Given the description of an element on the screen output the (x, y) to click on. 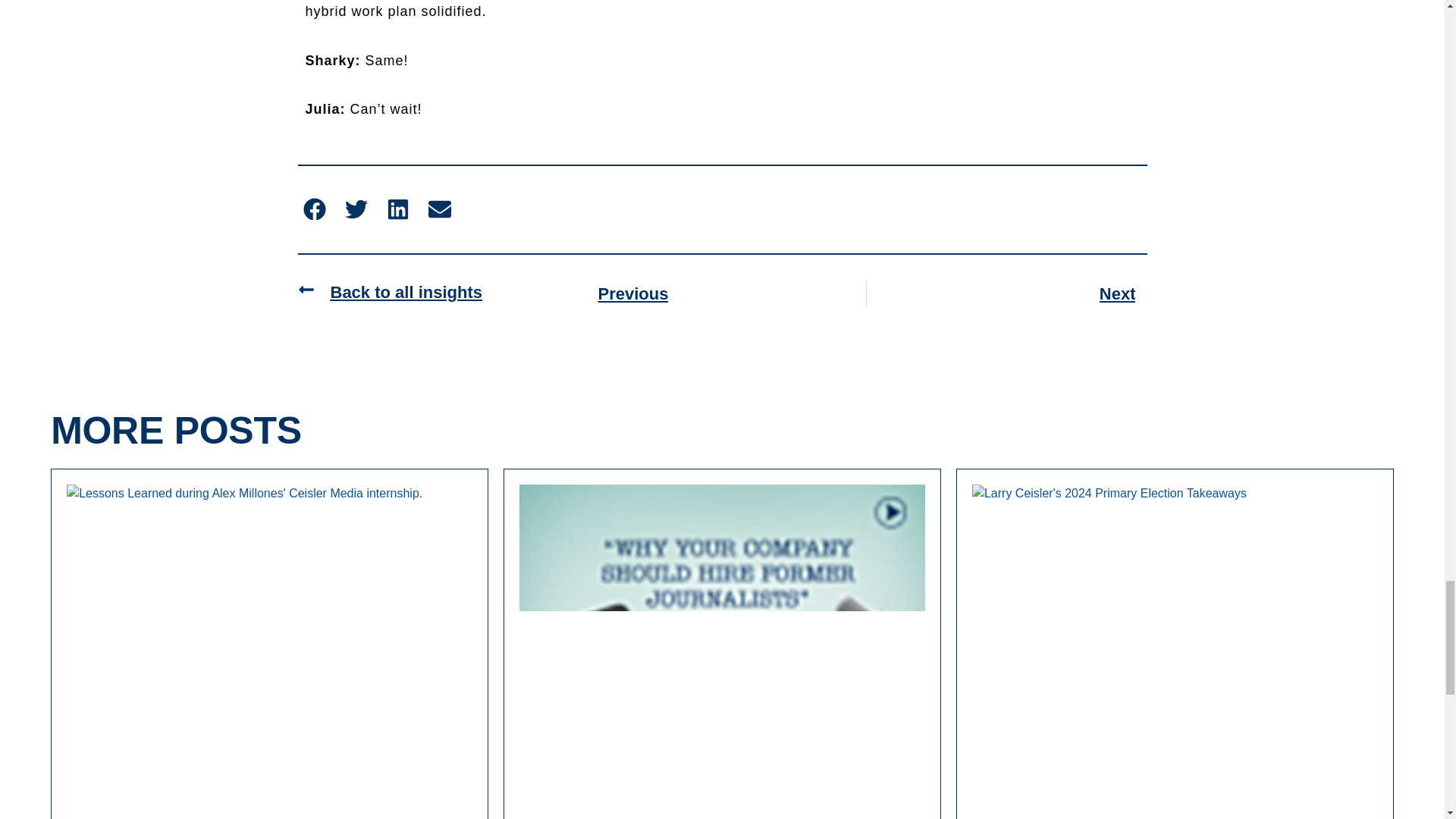
Previous (726, 293)
Back to all insights (389, 292)
Next (1006, 293)
